Given the description of an element on the screen output the (x, y) to click on. 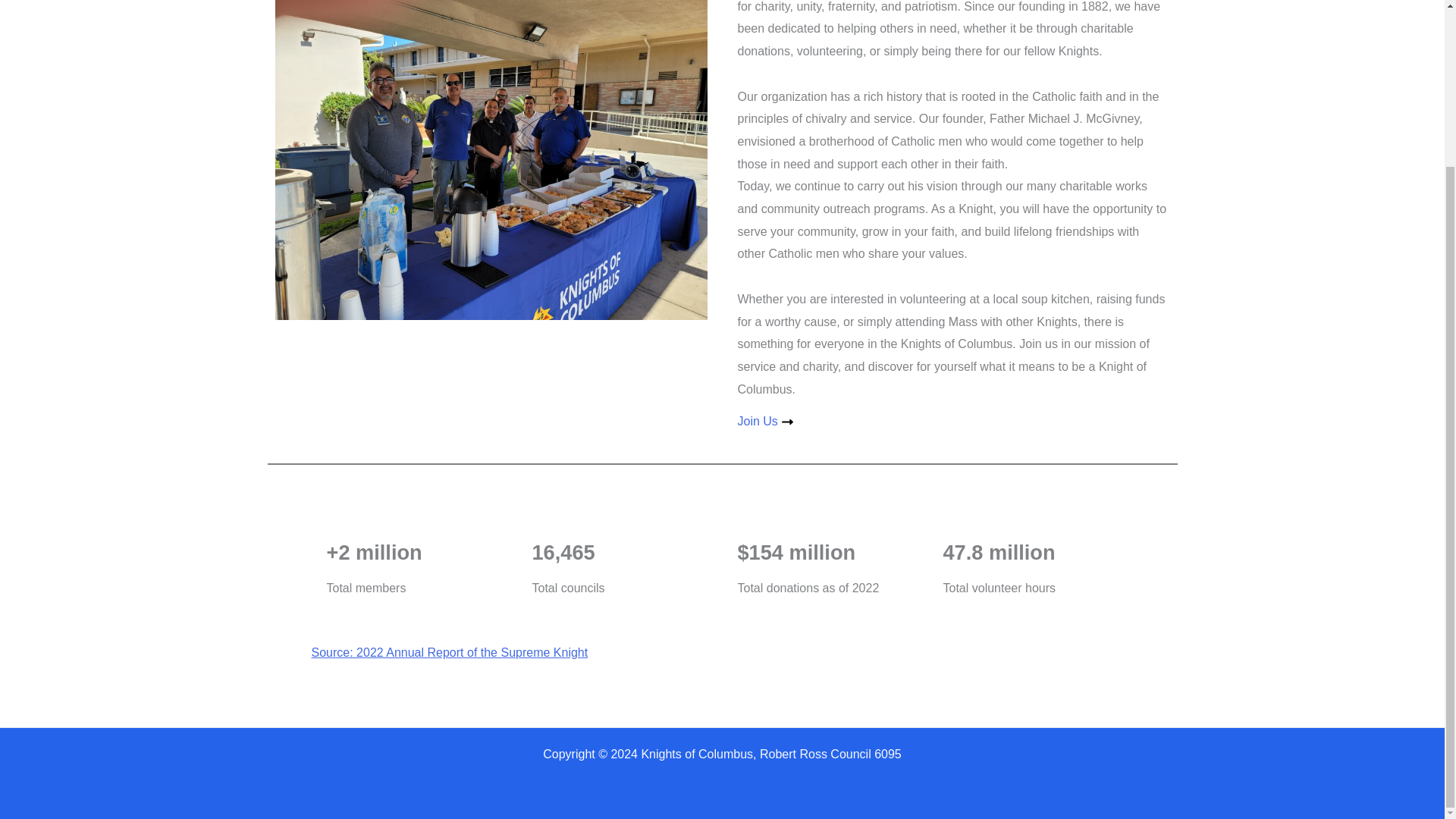
Source: 2022 Annual Report of the Supreme Knight (449, 652)
Join Us (764, 421)
